Given the description of an element on the screen output the (x, y) to click on. 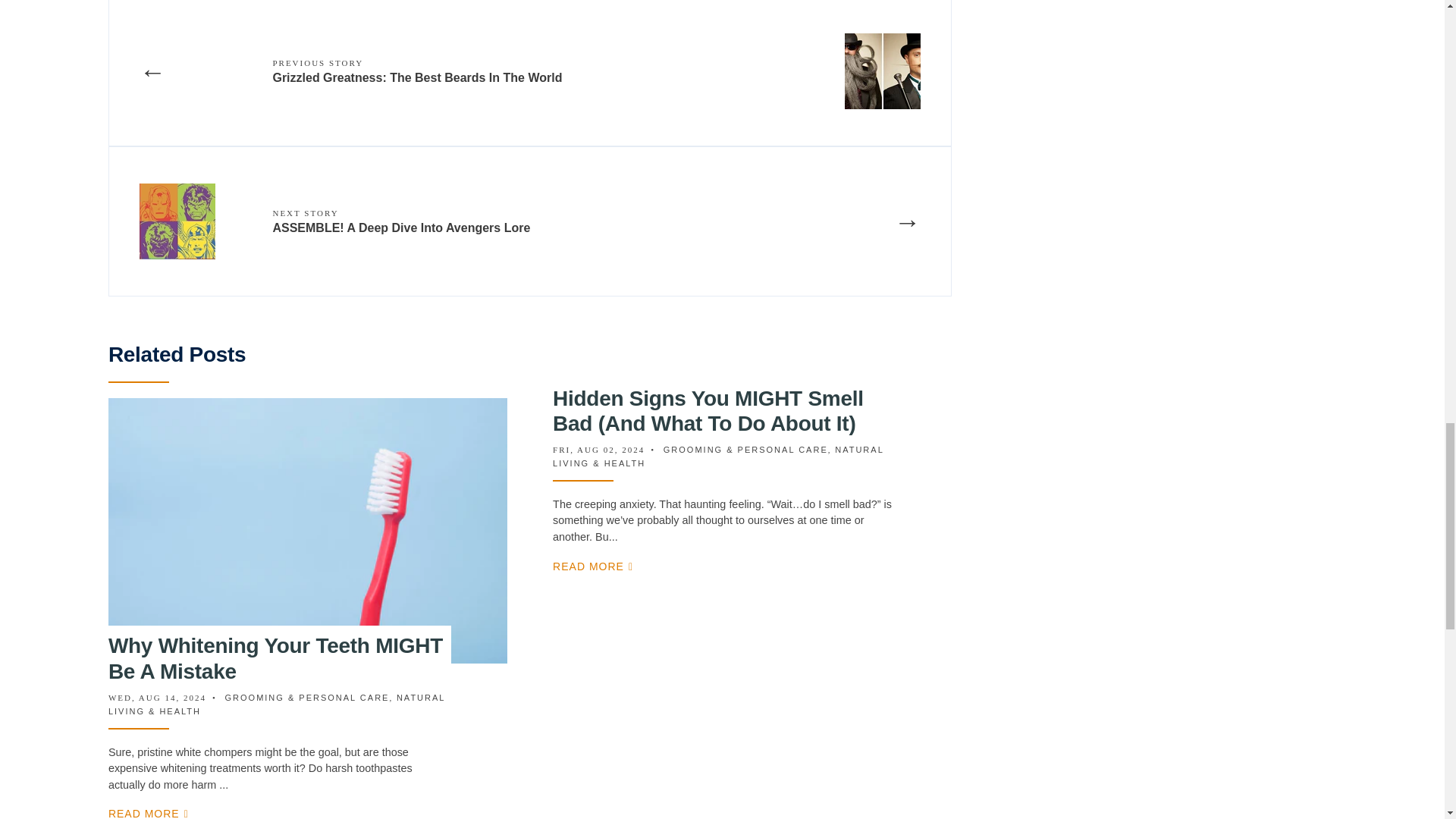
Why Whitening Your Teeth MIGHT Be A Mistake (274, 658)
READ MORE (148, 813)
READ MORE (593, 566)
